Given the description of an element on the screen output the (x, y) to click on. 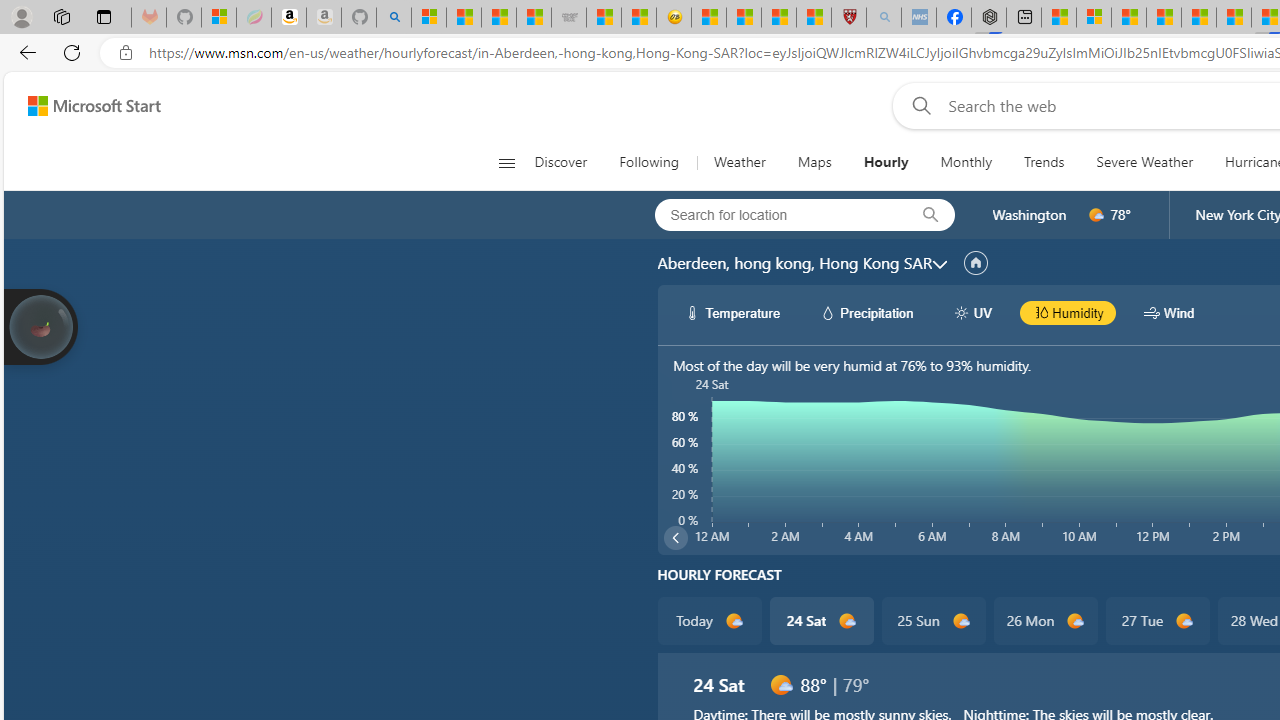
26 Mon d1000 (1045, 620)
hourlyChart/precipitationWhite (828, 312)
Monthly (966, 162)
locationName/setHomeLocation (976, 263)
